Given the description of an element on the screen output the (x, y) to click on. 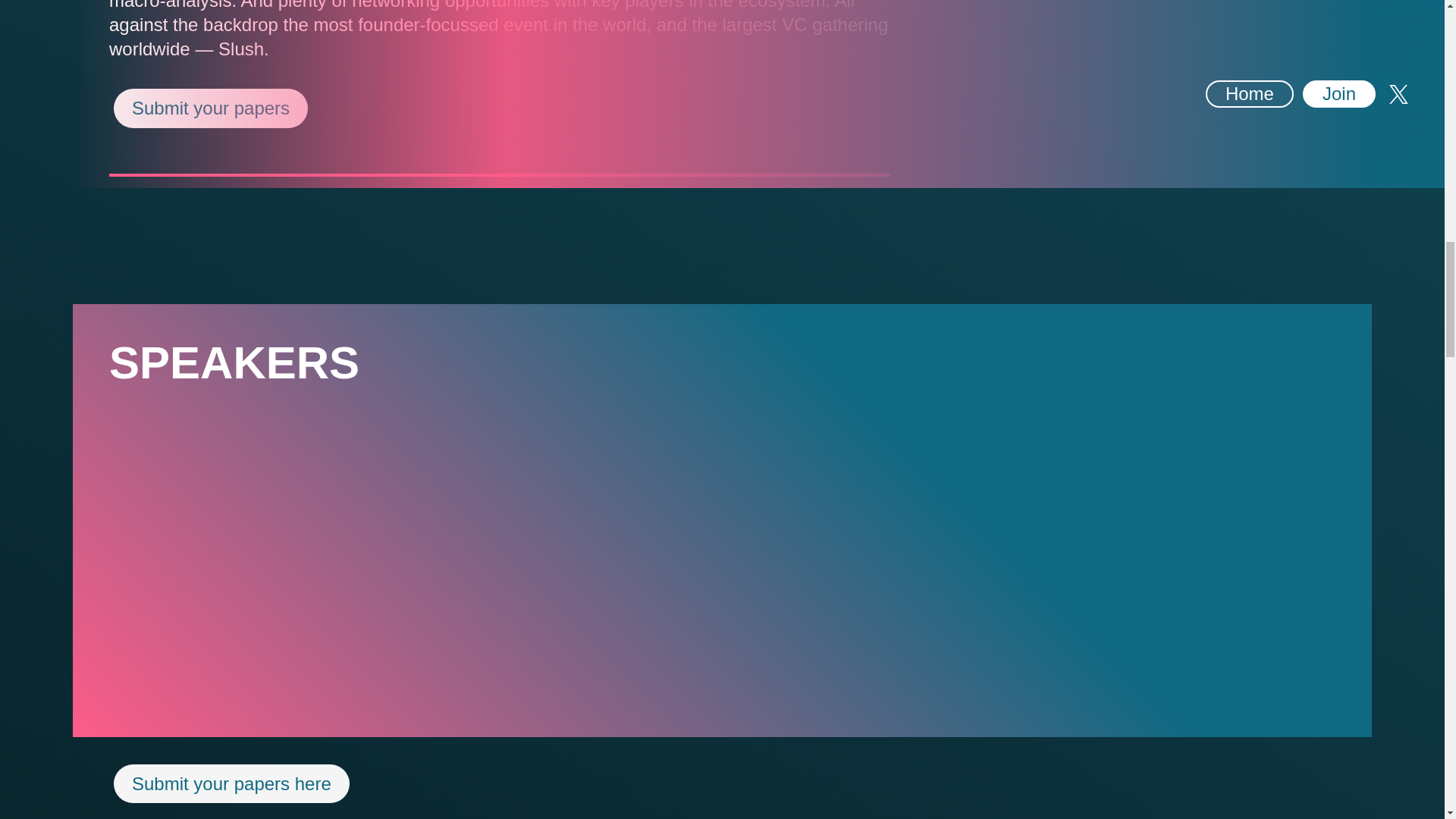
Submit your papers (210, 107)
Submit your papers here (231, 783)
Submit your papers here (231, 783)
Submit your papers (210, 107)
